Given the description of an element on the screen output the (x, y) to click on. 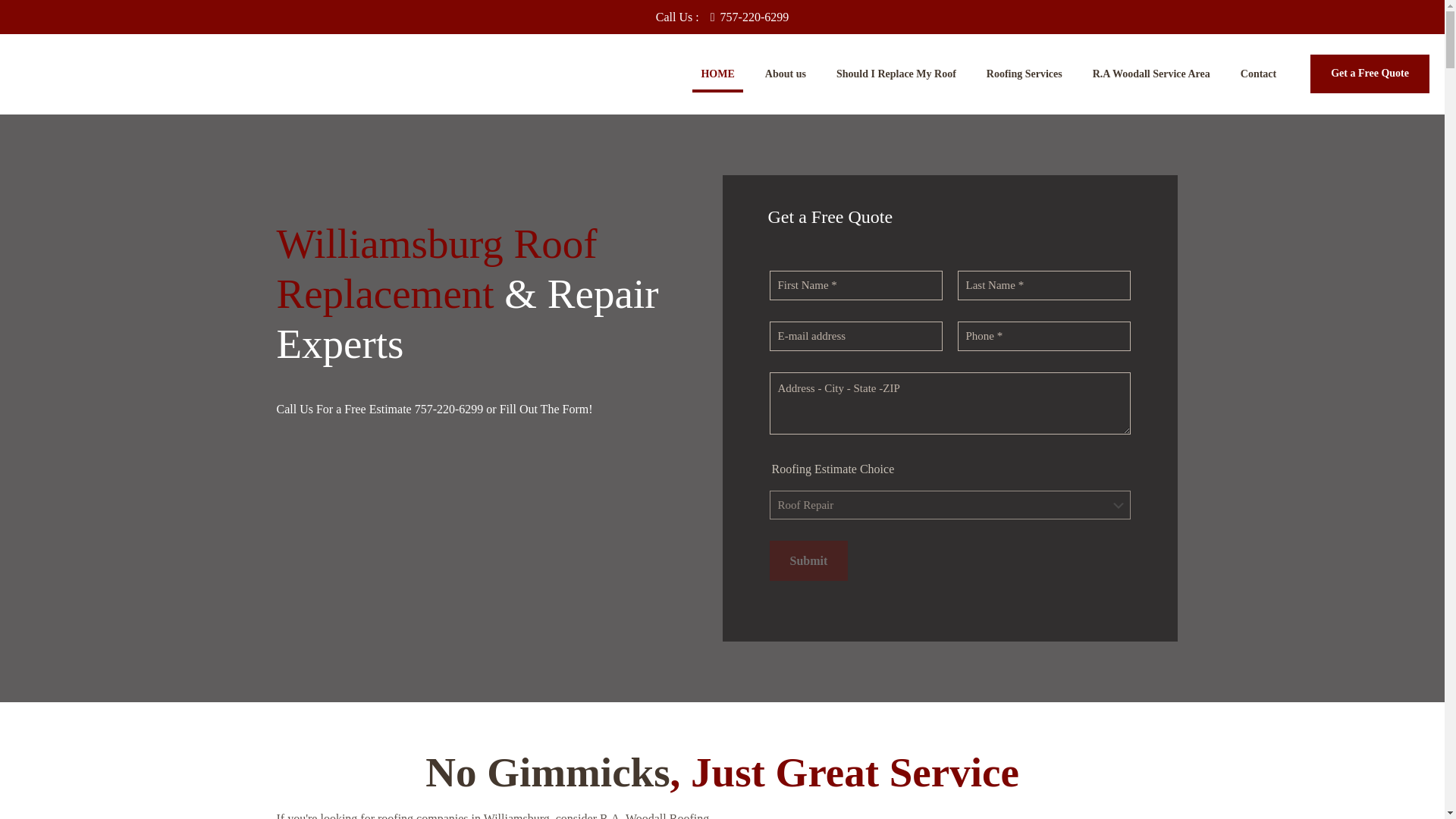
About us (785, 73)
Submit (807, 560)
R.A Woodall Service Area (1151, 73)
Submit (807, 560)
Should I Replace My Roof (896, 73)
Roofing Services (1024, 73)
757-220-6299 (754, 16)
Get a Free Quote (1369, 73)
